Given the description of an element on the screen output the (x, y) to click on. 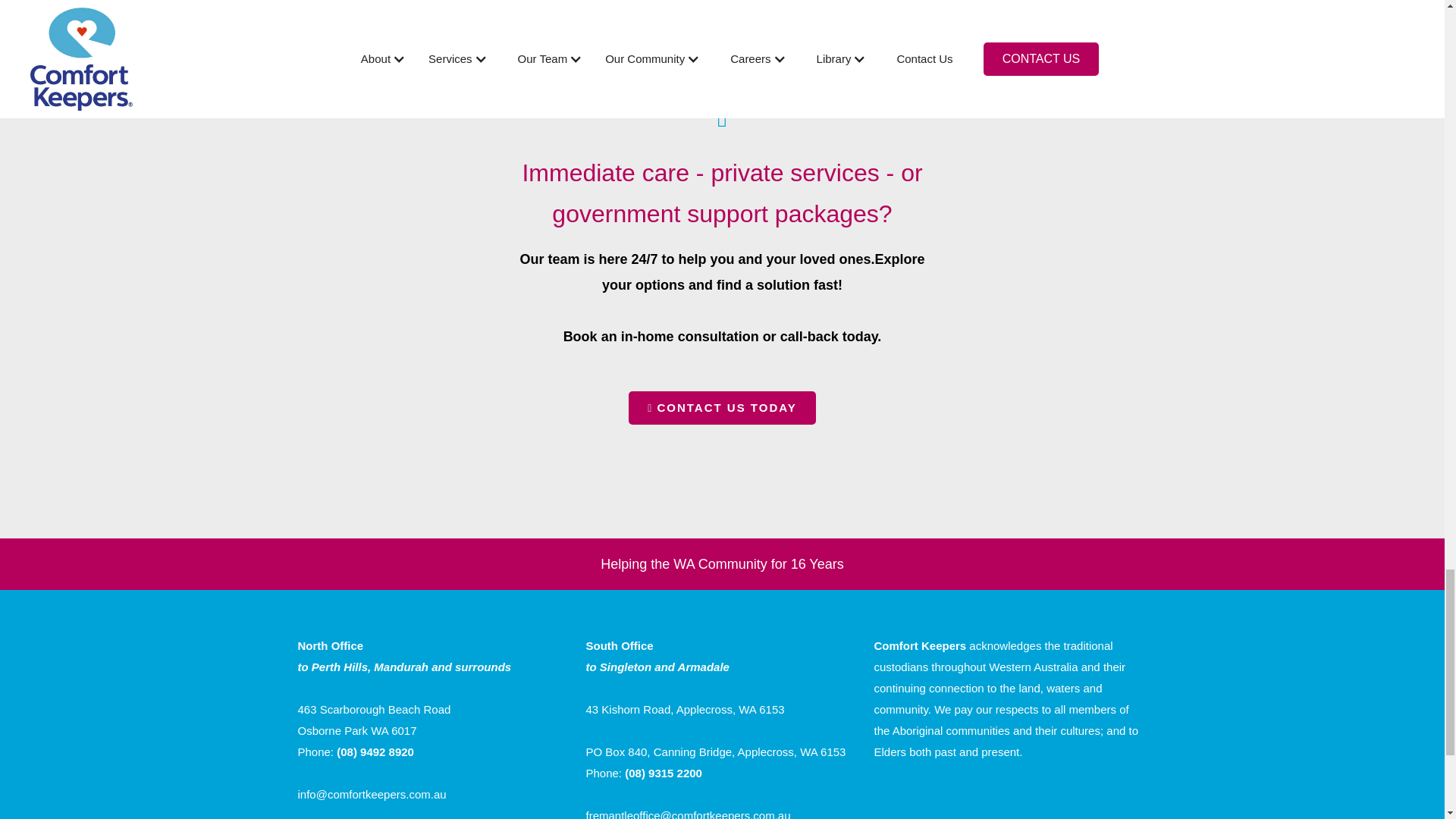
Facebook Like Button (958, 791)
